Given the description of an element on the screen output the (x, y) to click on. 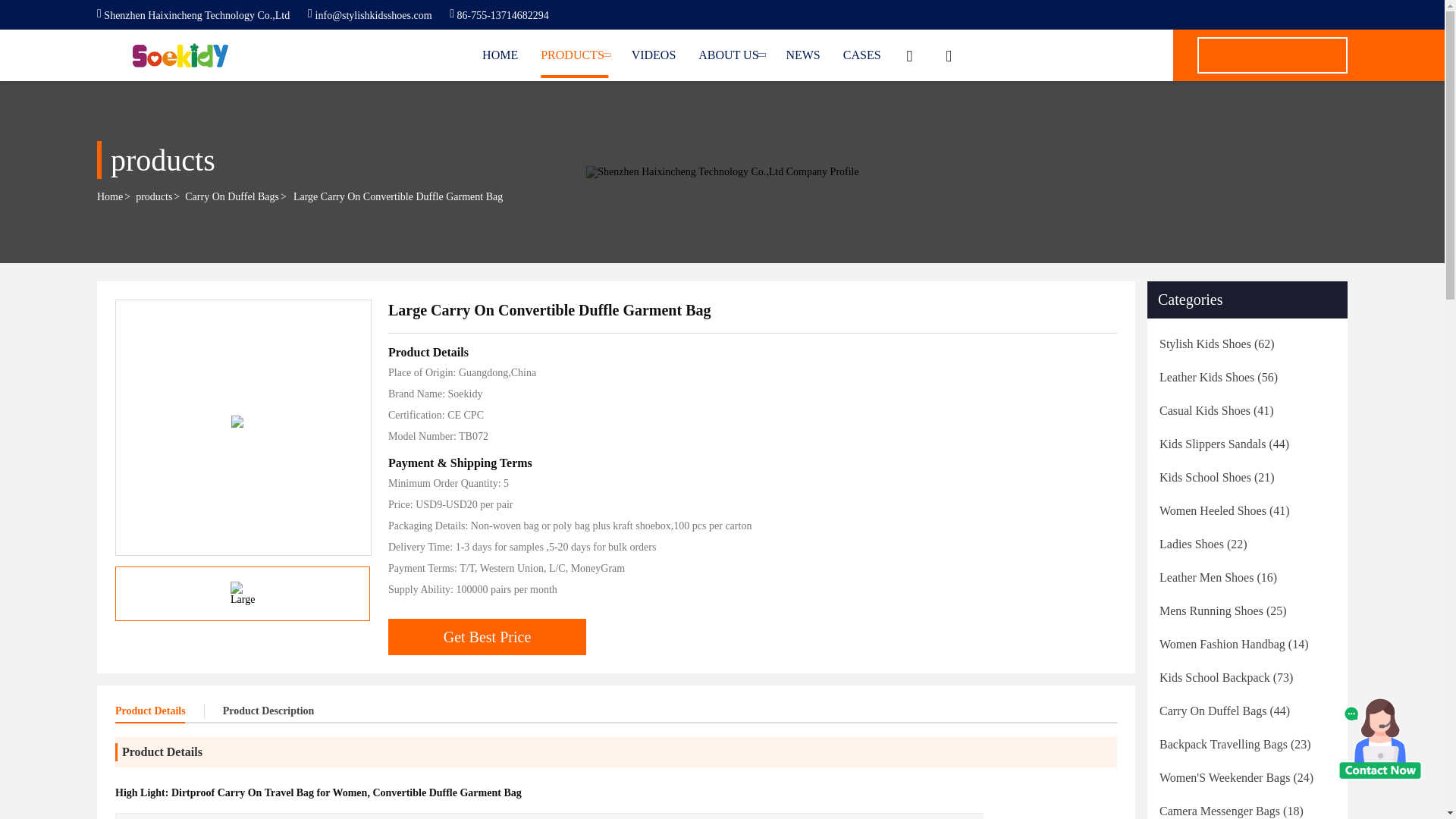
Products (574, 55)
86-755-13714682294 (498, 15)
PRODUCTS (574, 55)
ABOUT US (730, 55)
